Given the description of an element on the screen output the (x, y) to click on. 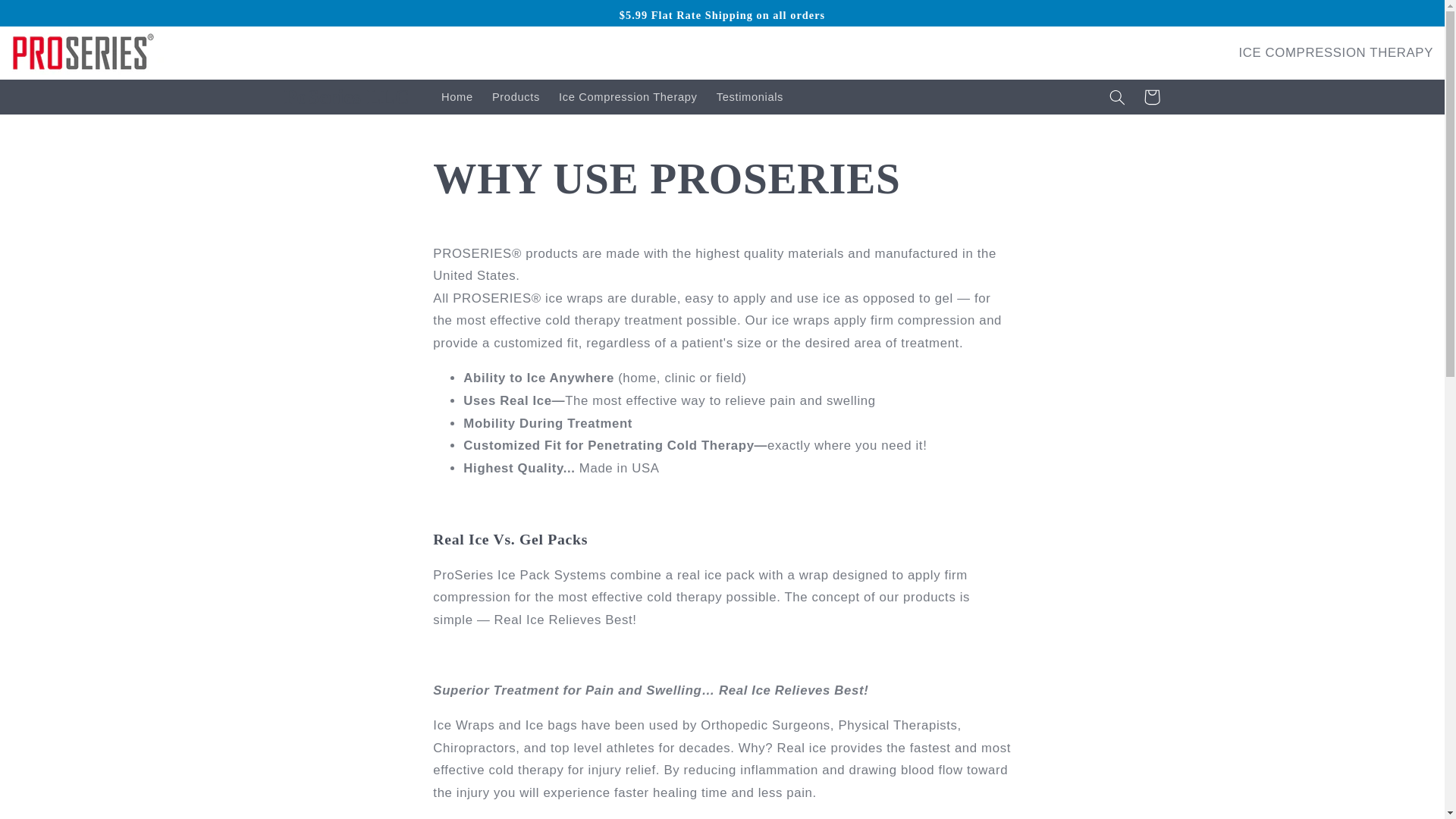
Ice Compression Therapy (627, 96)
Cart (1151, 96)
PoSeries LLC (346, 97)
Skip to content (48, 18)
Products (514, 96)
Home (455, 96)
Testimonials (749, 96)
